Given the description of an element on the screen output the (x, y) to click on. 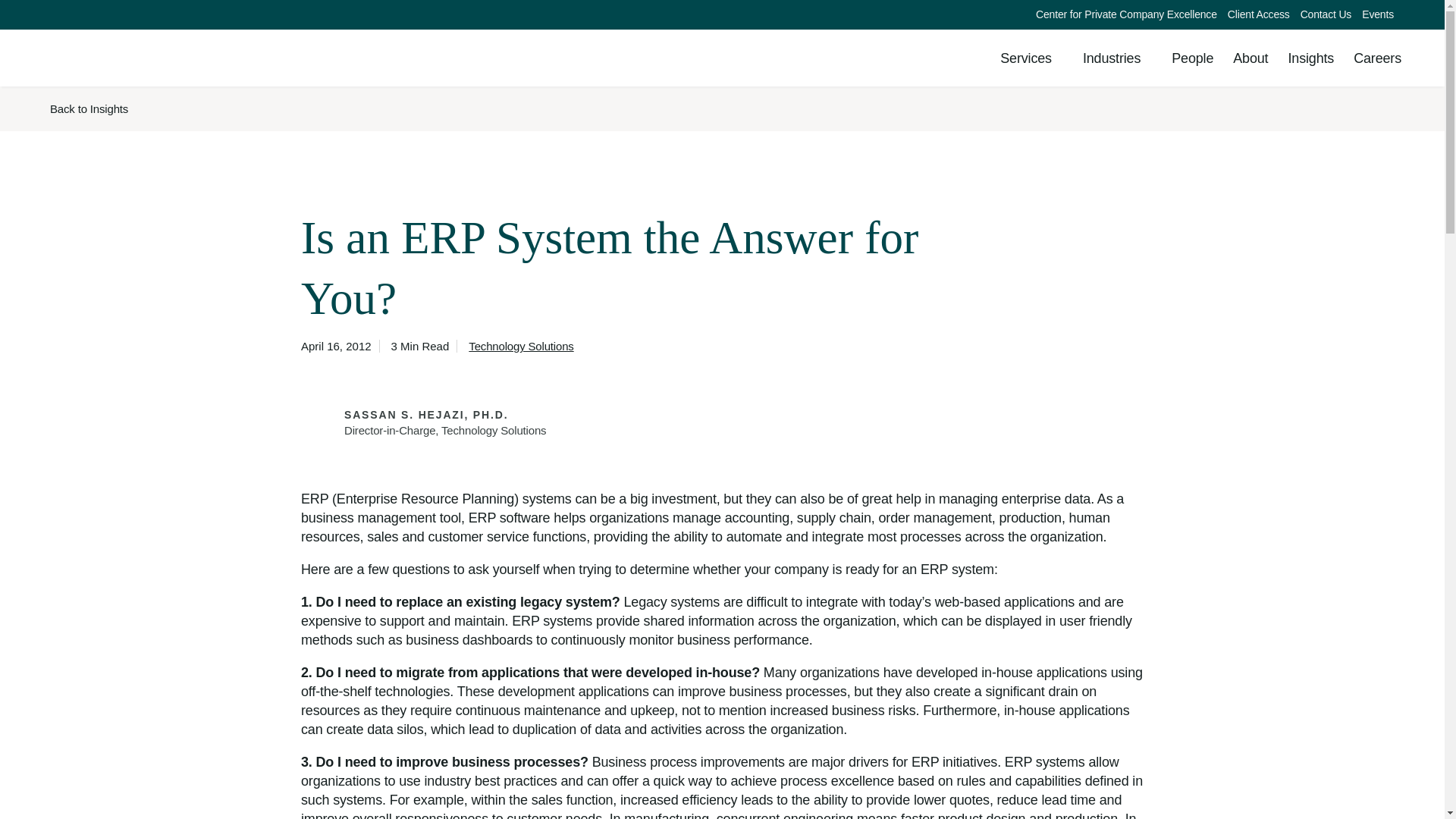
Industries (1117, 58)
Client Access (1259, 14)
Contact Us (1326, 14)
Services (1031, 58)
Center for Private Company Excellence (1126, 14)
Events (1377, 14)
